Given the description of an element on the screen output the (x, y) to click on. 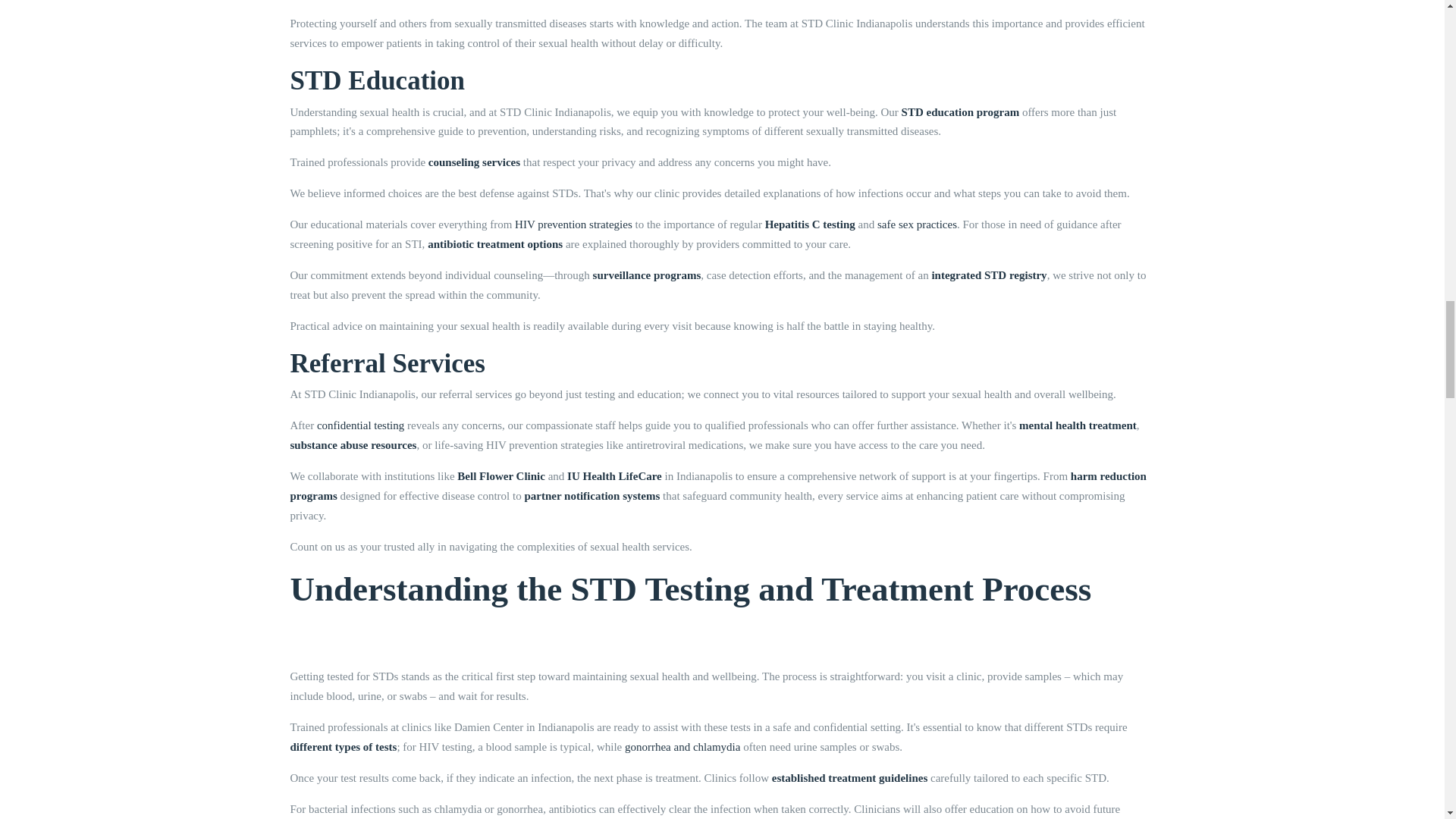
safe sex practices (916, 224)
HIV prevention strategies (573, 224)
gonorrhea and chlamydia (681, 746)
confidential testing (360, 425)
